Given the description of an element on the screen output the (x, y) to click on. 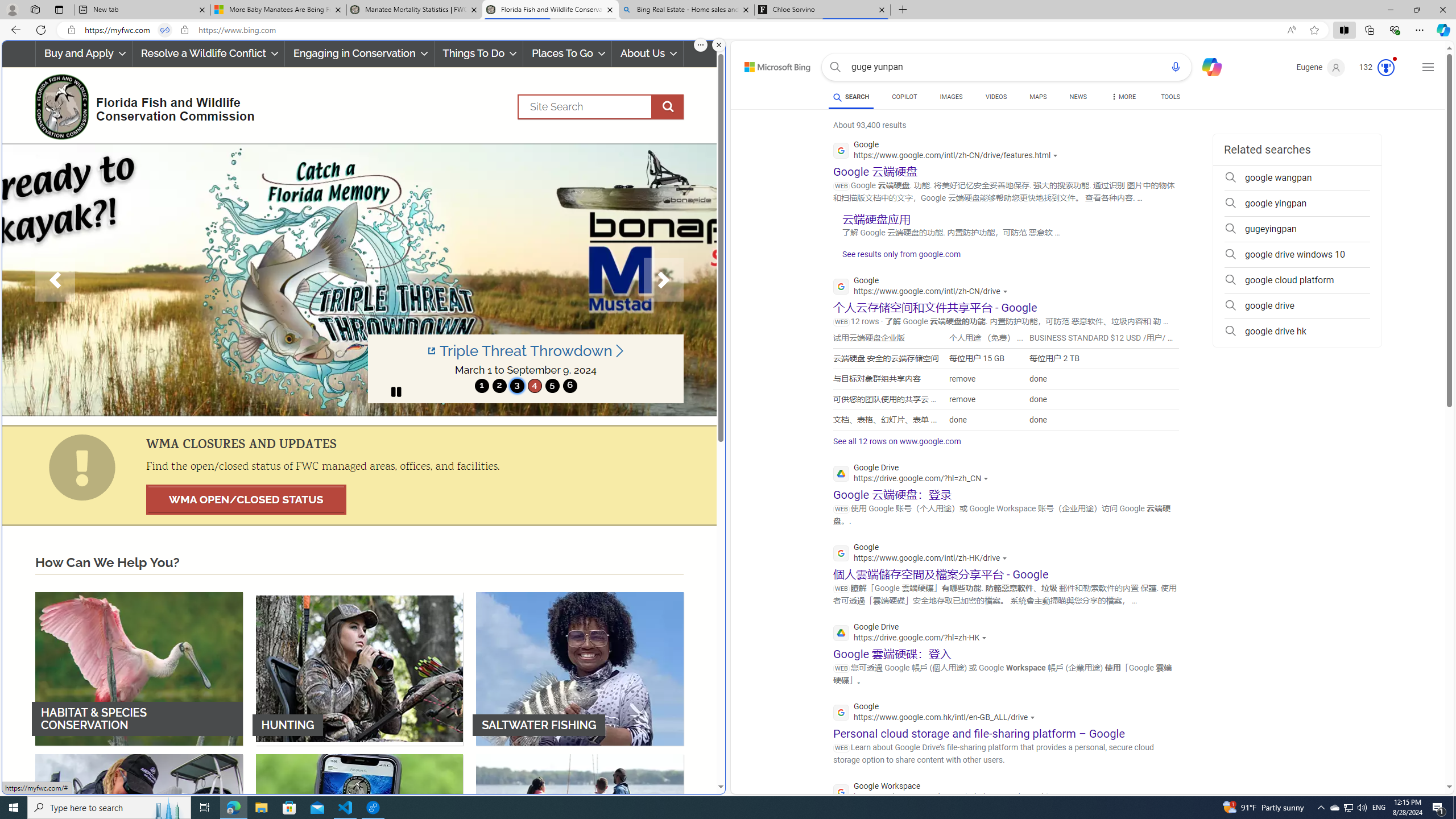
Search (835, 66)
SEARCH (850, 96)
Add this page to favorites (Ctrl+D) (1314, 29)
Florida Fish and Wildlife Conservation Commission | FWC (550, 9)
TOOLS (1171, 98)
Buy and Apply (83, 53)
About Us (647, 53)
3 (516, 385)
FWC Logo Florida Fish and Wildlife Conservation Commission (139, 104)
More options. (700, 45)
